Given the description of an element on the screen output the (x, y) to click on. 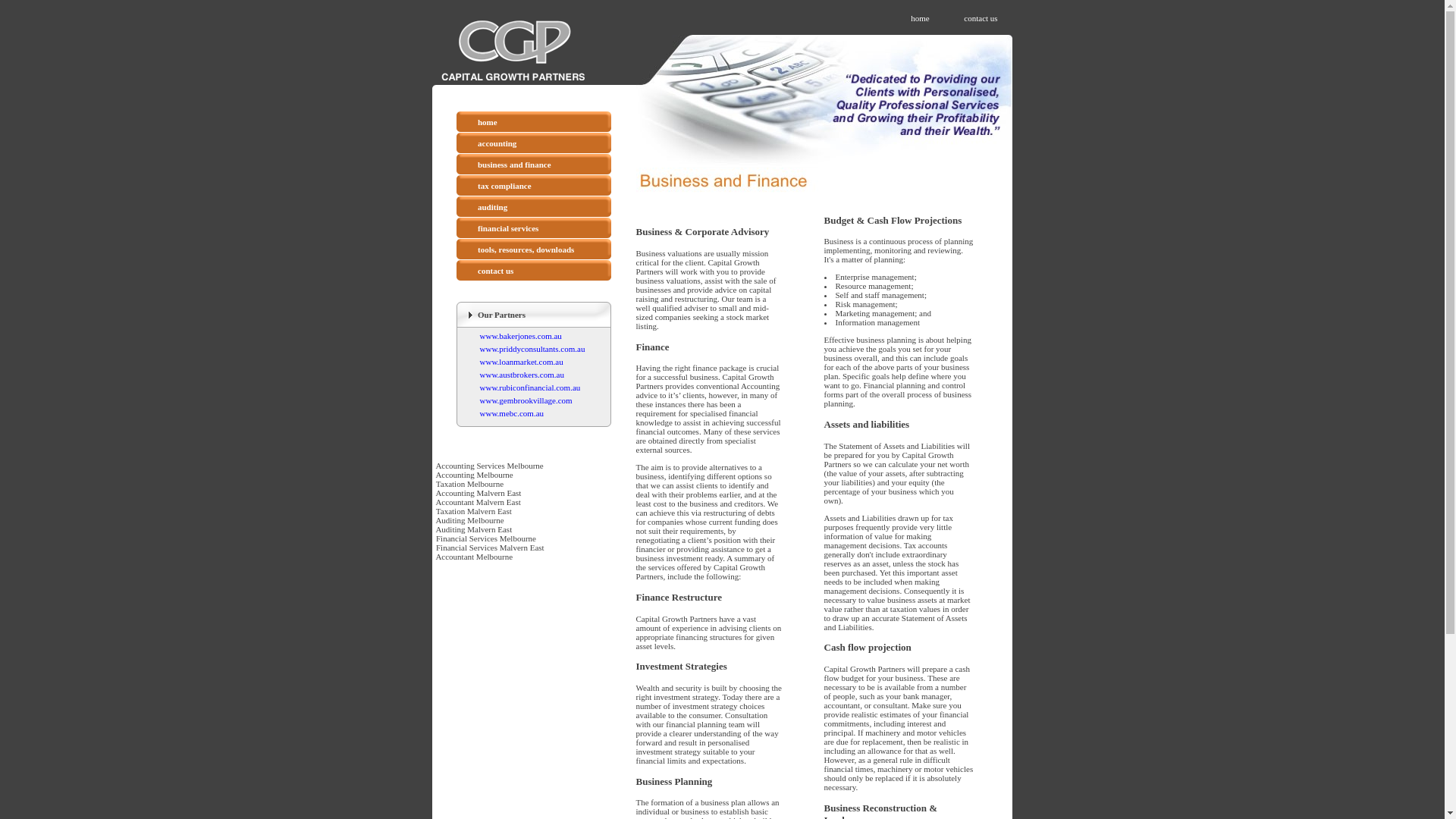
www.priddyconsultants.com.au Element type: text (531, 348)
business and finance Element type: text (514, 164)
auditing Element type: text (492, 206)
www.mebc.com.au Element type: text (511, 412)
financial services Element type: text (507, 227)
home Element type: text (919, 17)
www.bakerjones.com.au Element type: text (520, 335)
home Element type: text (487, 121)
www.austbrokers.com.au Element type: text (521, 374)
www.loanmarket.com.au Element type: text (520, 361)
accounting Element type: text (496, 142)
tax compliance Element type: text (504, 185)
contact us Element type: text (495, 270)
tools, resources, downloads Element type: text (525, 249)
www.gembrookvillage.com Element type: text (525, 399)
contact us Element type: text (980, 17)
www.rubiconfinancial.com.au Element type: text (529, 387)
